Given the description of an element on the screen output the (x, y) to click on. 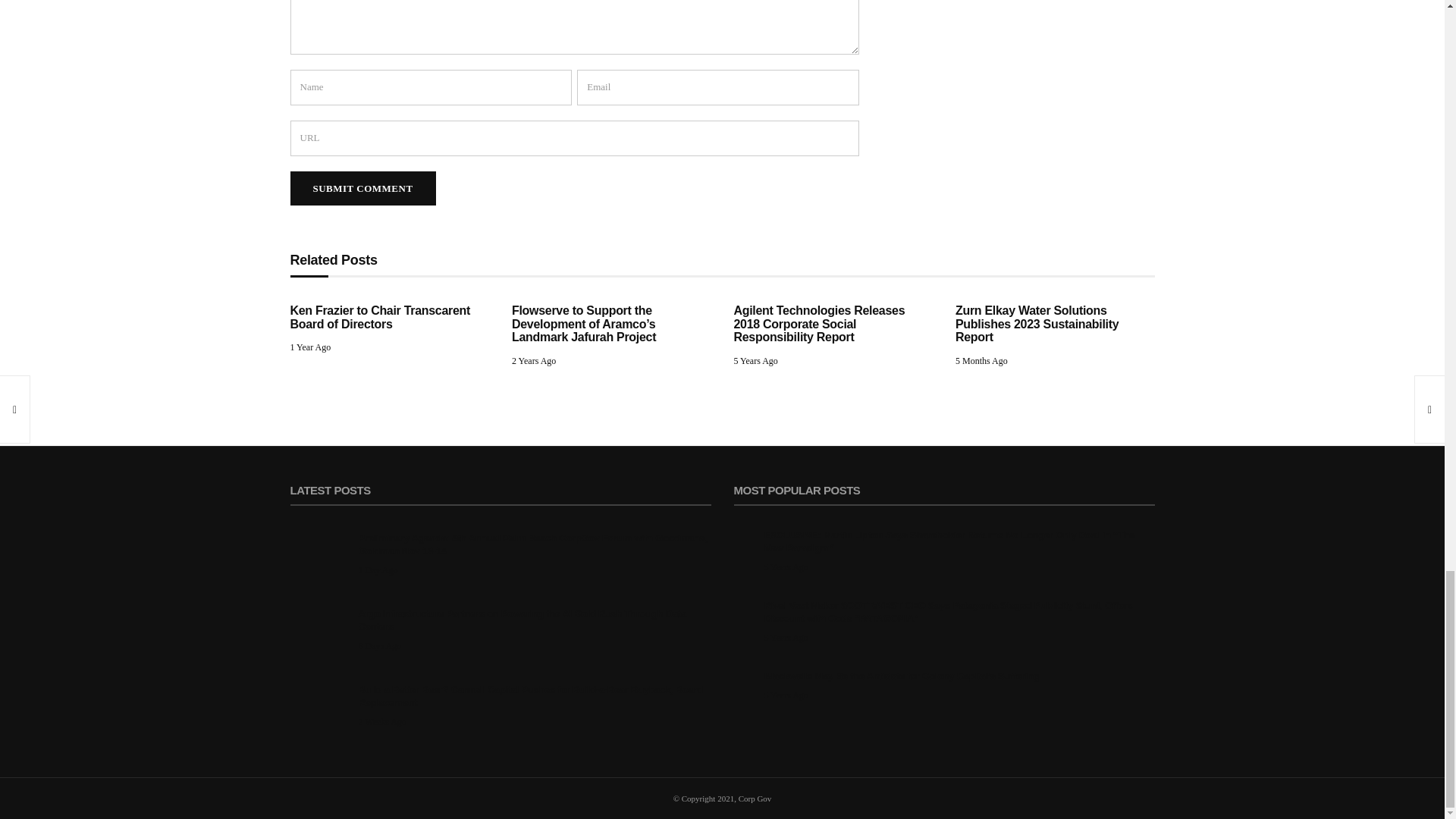
Submit Comment (362, 188)
Ken Frazier to Chair Transcarent Board of Directors (379, 316)
